Given the description of an element on the screen output the (x, y) to click on. 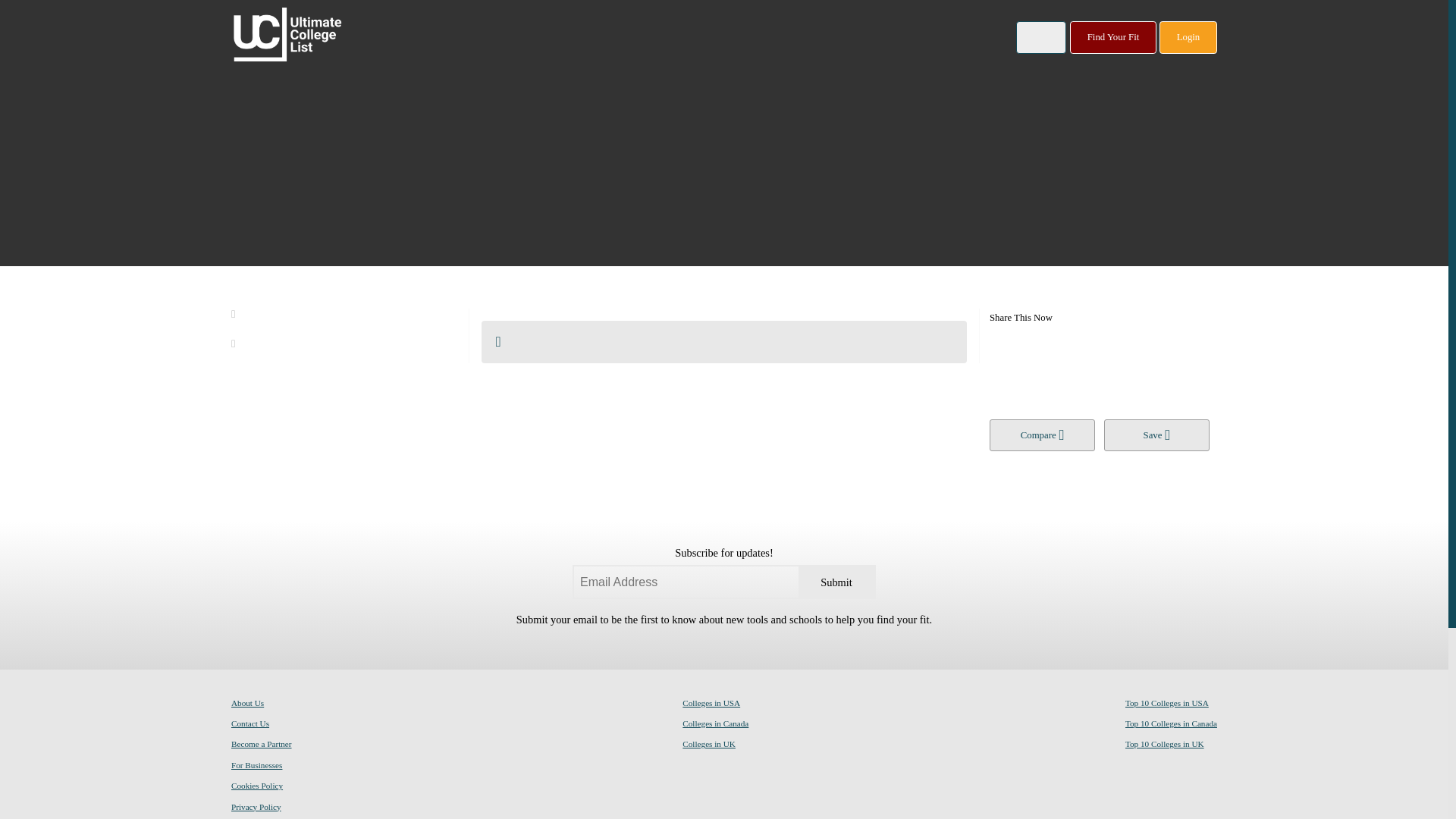
Colleges in Canada (715, 723)
For Businesses (256, 764)
Cookies Policy (256, 785)
Contact Us (250, 723)
About Us (247, 702)
Privacy Policy (256, 806)
Become a Partner (261, 743)
Top 10 Colleges in Canada (1171, 723)
Top 10 Colleges in UK (1164, 743)
